Given the description of an element on the screen output the (x, y) to click on. 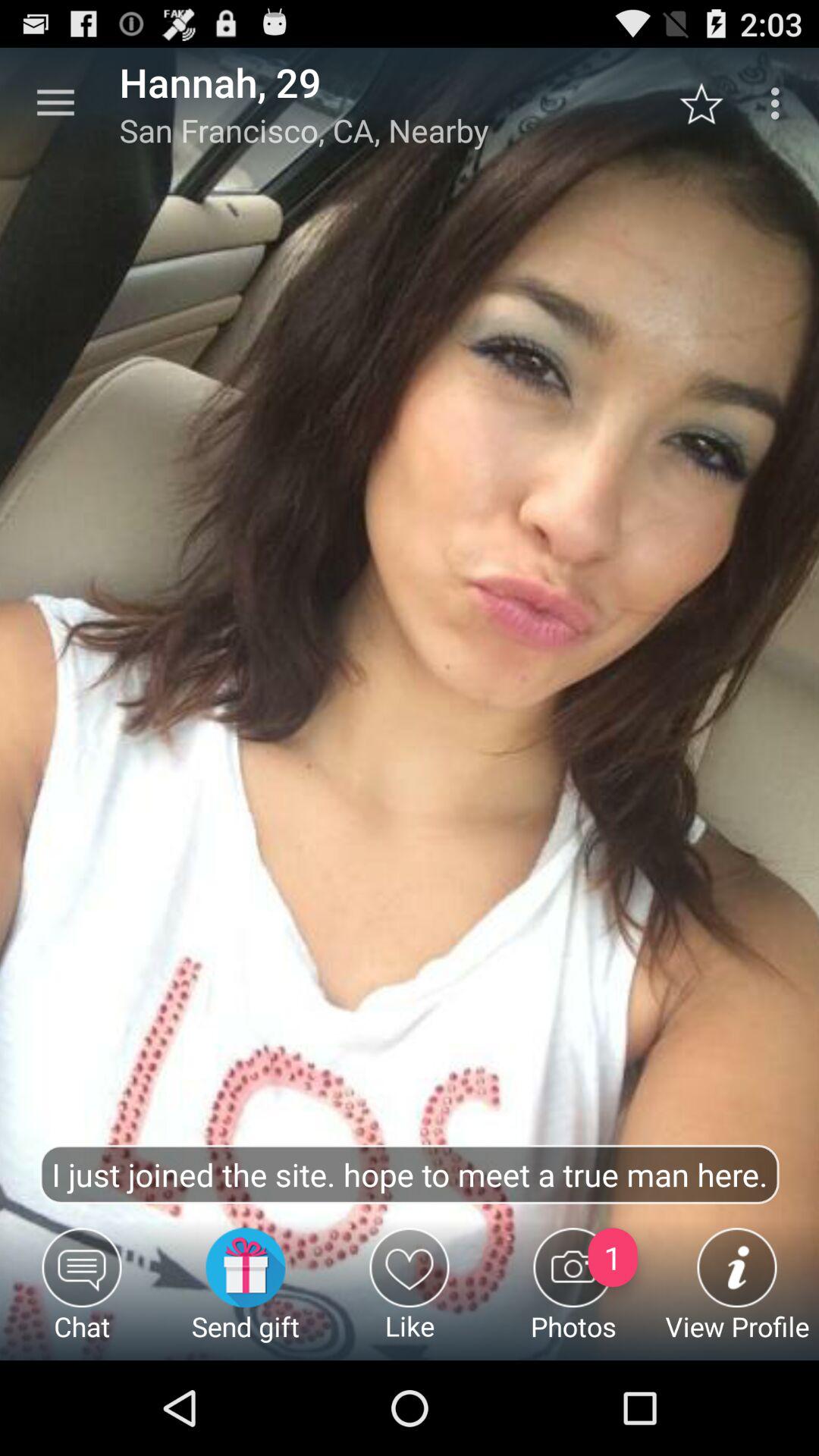
click on star button which is beside three vertical dots (709, 103)
click on send gift button (245, 1293)
